Given the description of an element on the screen output the (x, y) to click on. 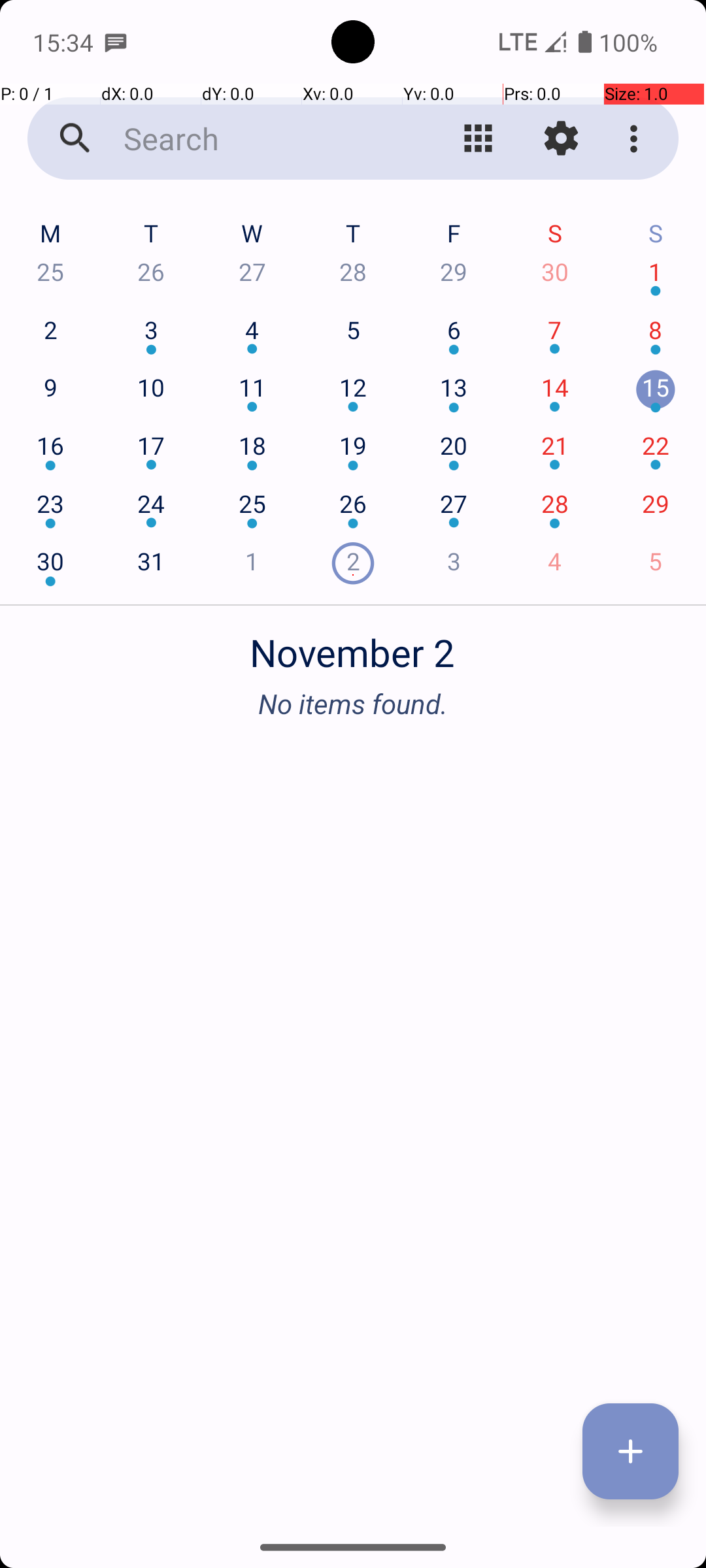
November 2 Element type: android.widget.TextView (352, 644)
